Given the description of an element on the screen output the (x, y) to click on. 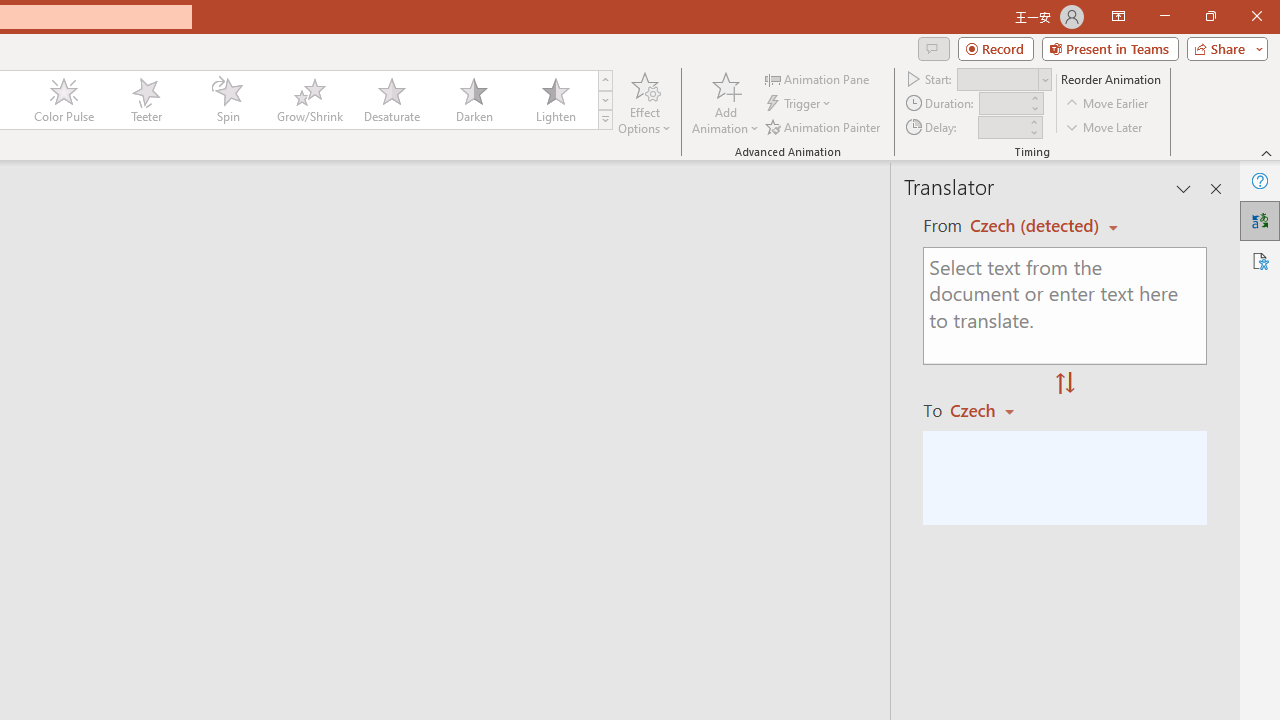
Animation Duration (1003, 103)
Grow/Shrink (309, 100)
Close pane (1215, 188)
Start (1004, 78)
Animation Painter (824, 126)
Spin (227, 100)
Color Pulse (63, 100)
Move Earlier (1107, 103)
Row Down (605, 100)
Darken (473, 100)
Czech (991, 409)
